Given the description of an element on the screen output the (x, y) to click on. 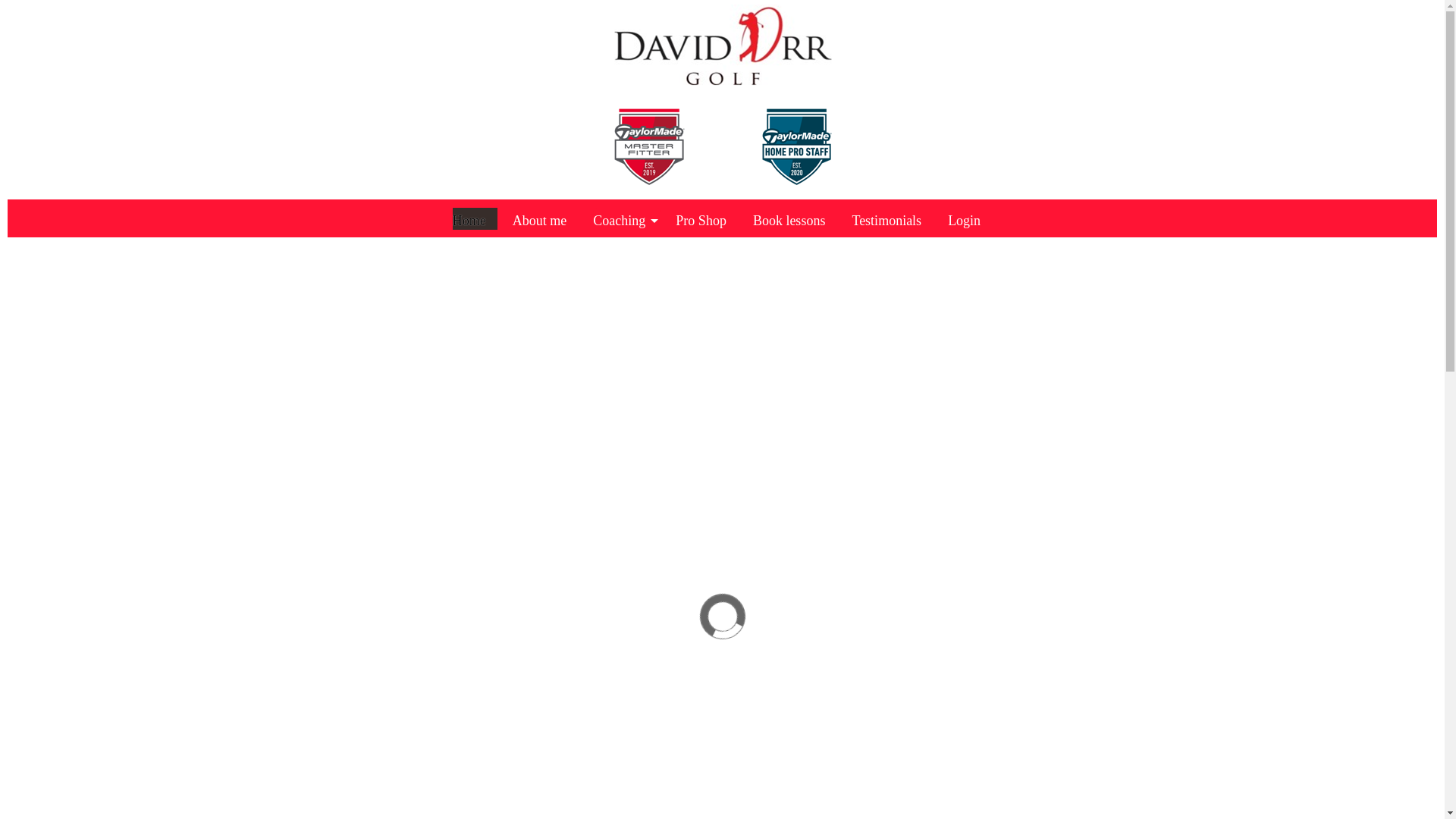
Book lessons (794, 219)
About me (545, 219)
Home (474, 219)
Login (969, 219)
Testimonials (892, 219)
Pro Shop (706, 219)
